Given the description of an element on the screen output the (x, y) to click on. 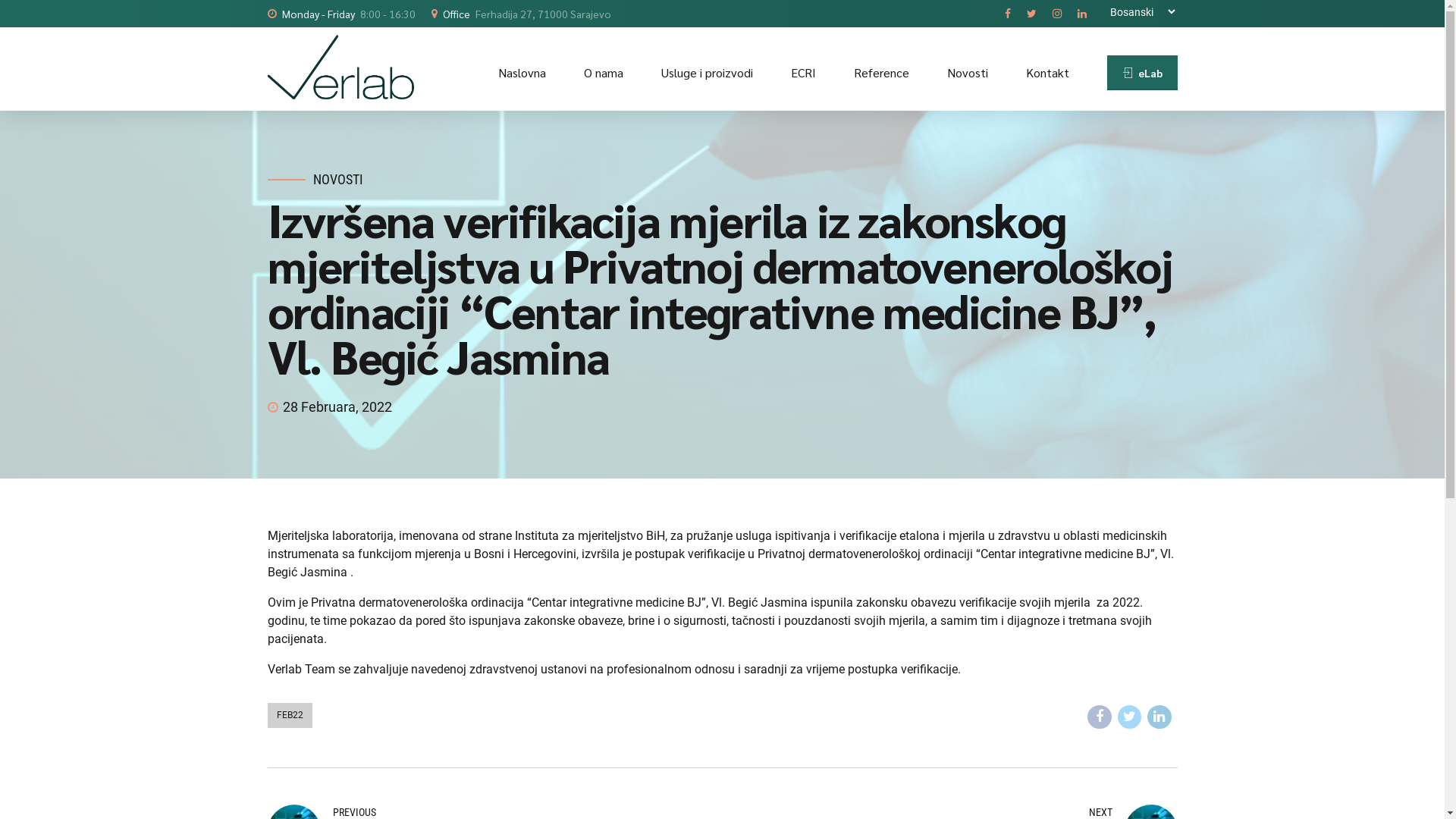
Usluge i proizvodi Element type: text (707, 72)
O nama Element type: text (603, 72)
Naslovna Element type: text (521, 72)
Kontakt Element type: text (1046, 72)
ECRI Element type: text (802, 72)
Share on Twitter Element type: hover (1129, 717)
FEB22 Element type: text (288, 715)
Share on Facebook Element type: hover (1099, 717)
Reference Element type: text (881, 72)
Share on Linkedin Element type: hover (1159, 717)
Novosti Element type: text (966, 72)
NOVOSTI Element type: text (337, 179)
eLab Element type: text (1142, 72)
